Given the description of an element on the screen output the (x, y) to click on. 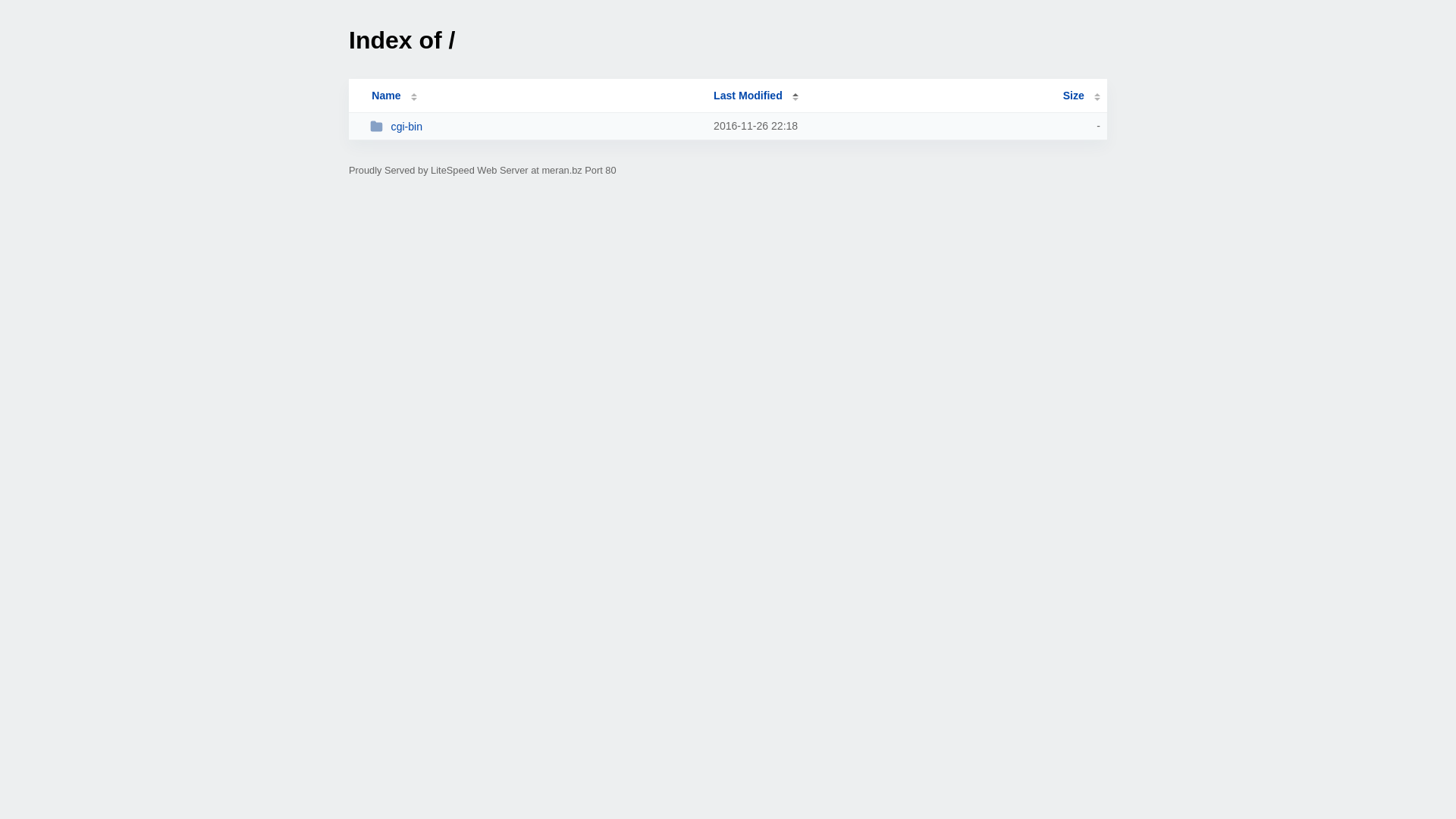
Last Modified Element type: text (755, 95)
cgi-bin Element type: text (534, 125)
Name Element type: text (385, 95)
Size Element type: text (1081, 95)
